Given the description of an element on the screen output the (x, y) to click on. 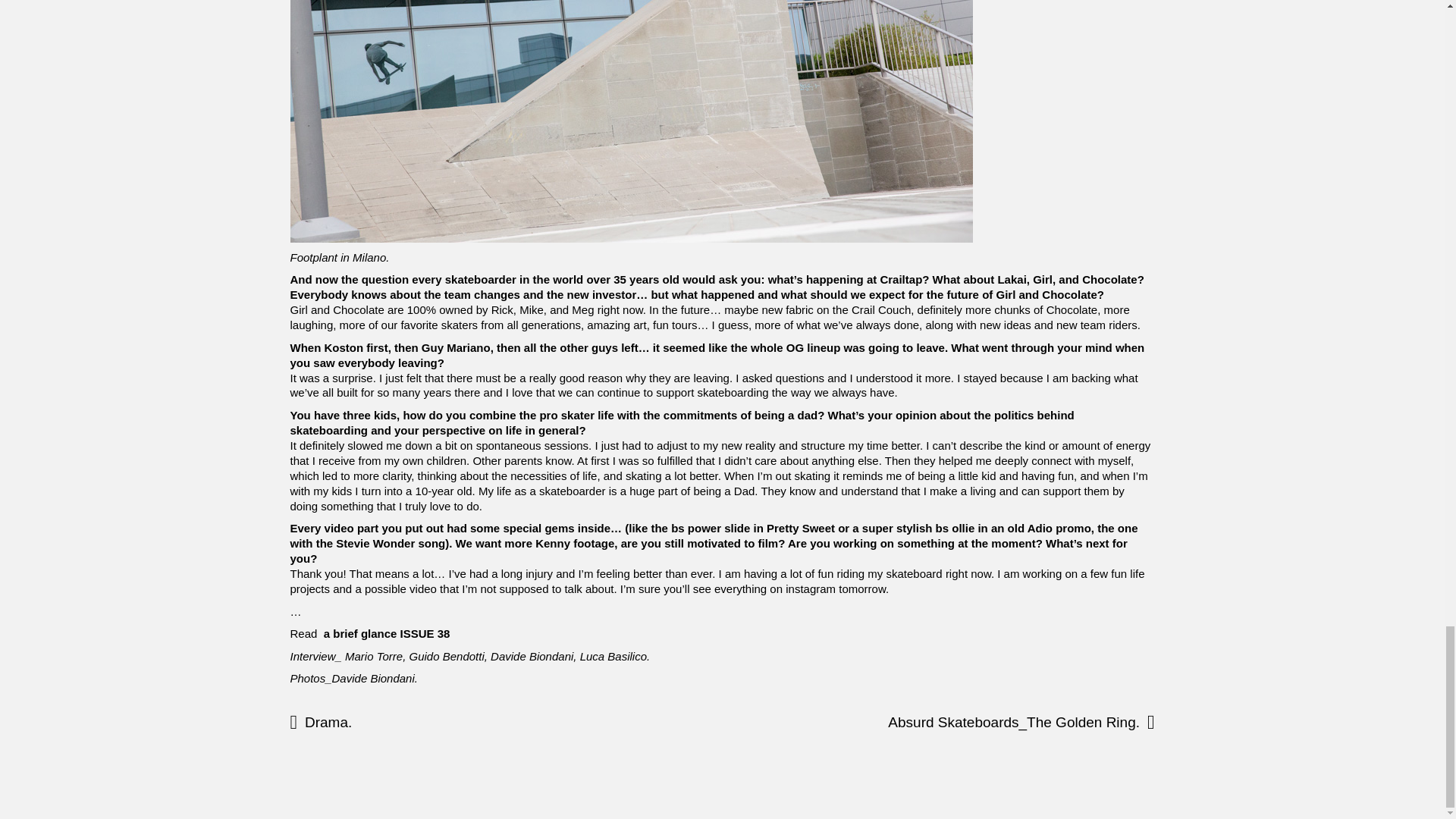
a brief glance ISSUE 38 (386, 633)
Drama. (442, 722)
